Given the description of an element on the screen output the (x, y) to click on. 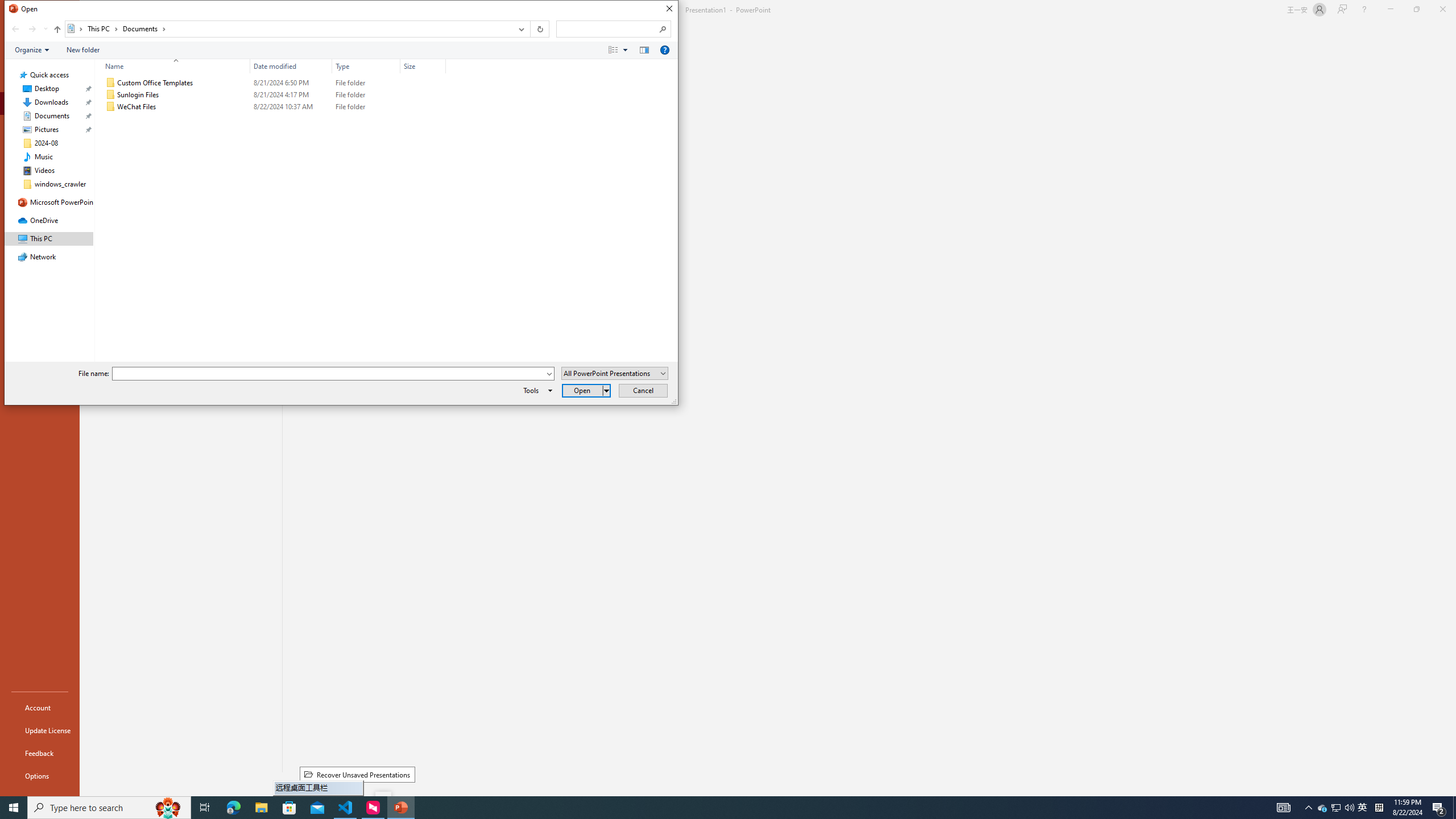
Previous Locations (520, 28)
Search Box (607, 28)
Organize (31, 49)
Files of type: (615, 373)
